Given the description of an element on the screen output the (x, y) to click on. 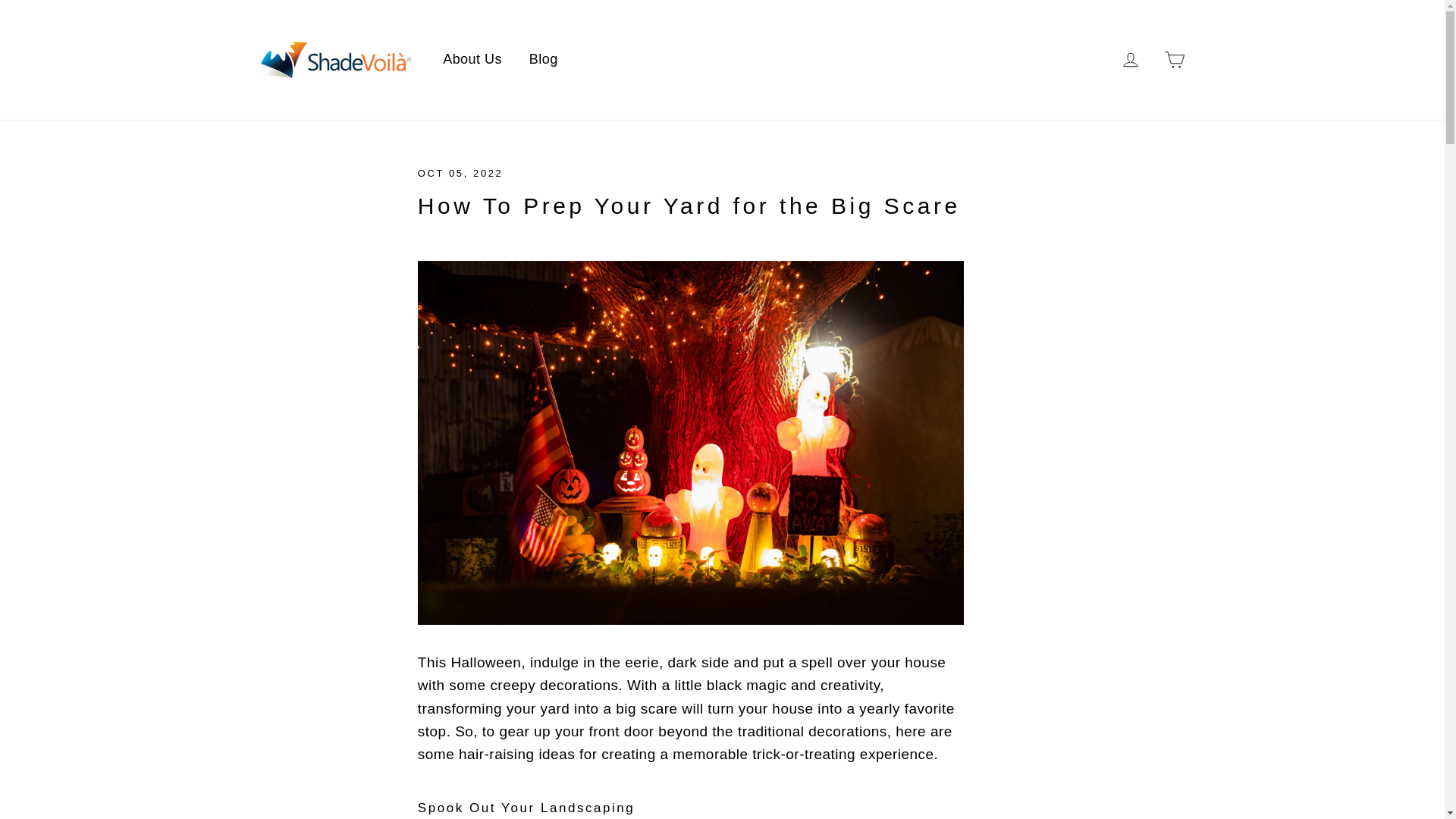
About Us (471, 59)
Blog (543, 59)
